Given the description of an element on the screen output the (x, y) to click on. 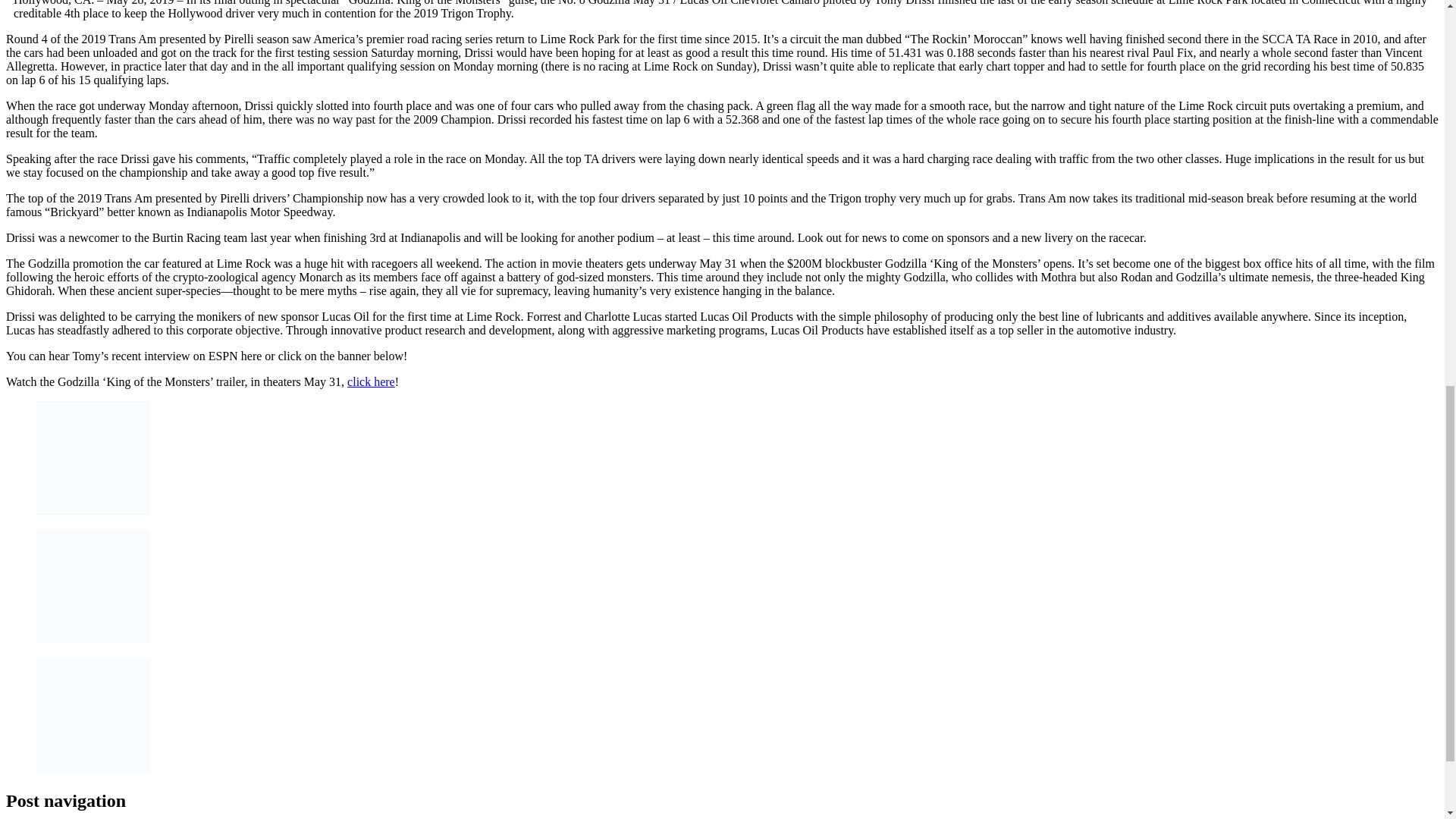
click here (370, 381)
